Given the description of an element on the screen output the (x, y) to click on. 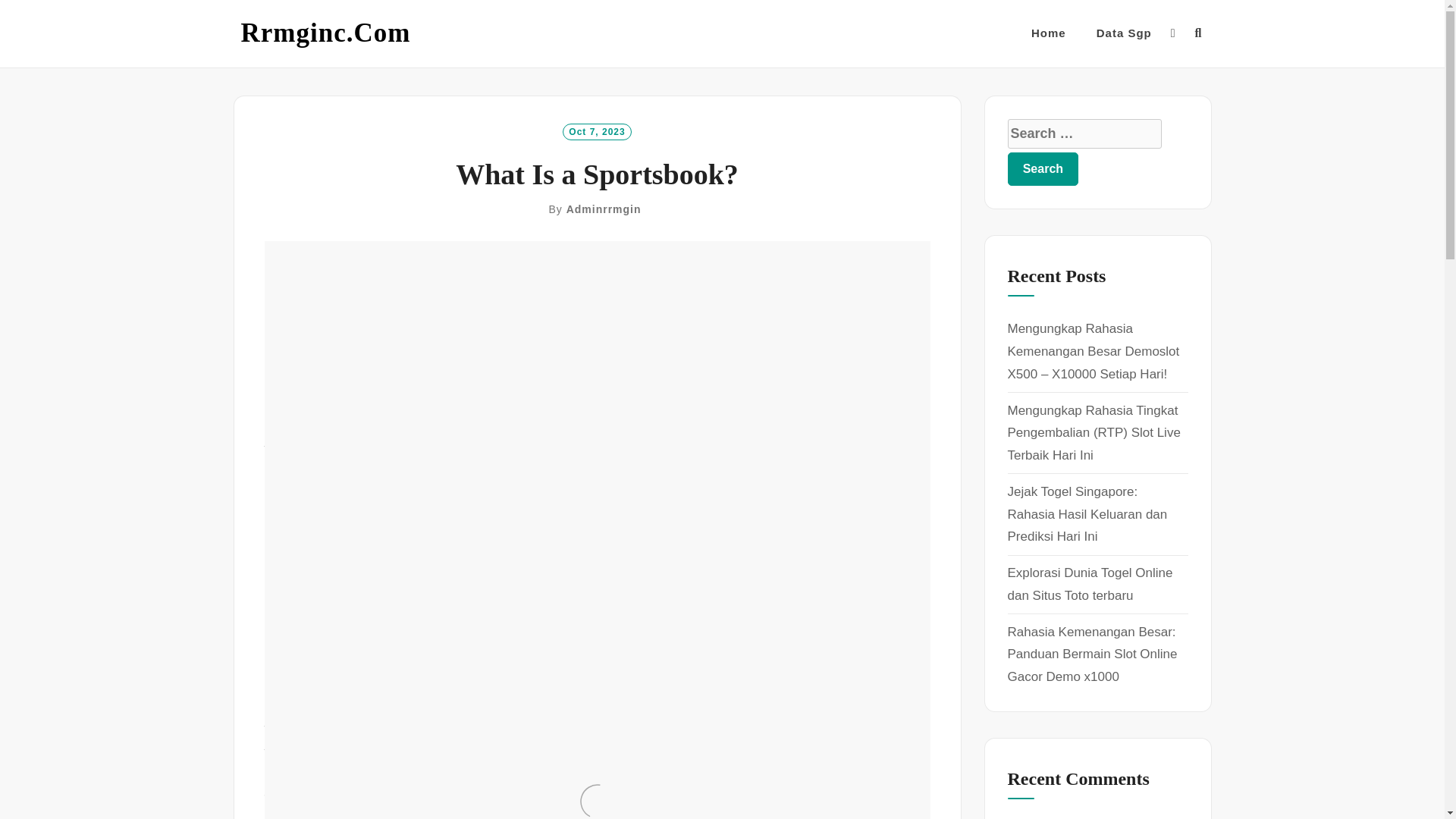
Search (1042, 168)
Rrmginc.Com (325, 33)
Search (1042, 168)
Explorasi Dunia Togel Online dan Situs Toto terbaru (1089, 583)
Adminrrmgin (604, 209)
Data Sgp (1123, 33)
Oct 7, 2023 (596, 130)
Search (1042, 168)
